Given the description of an element on the screen output the (x, y) to click on. 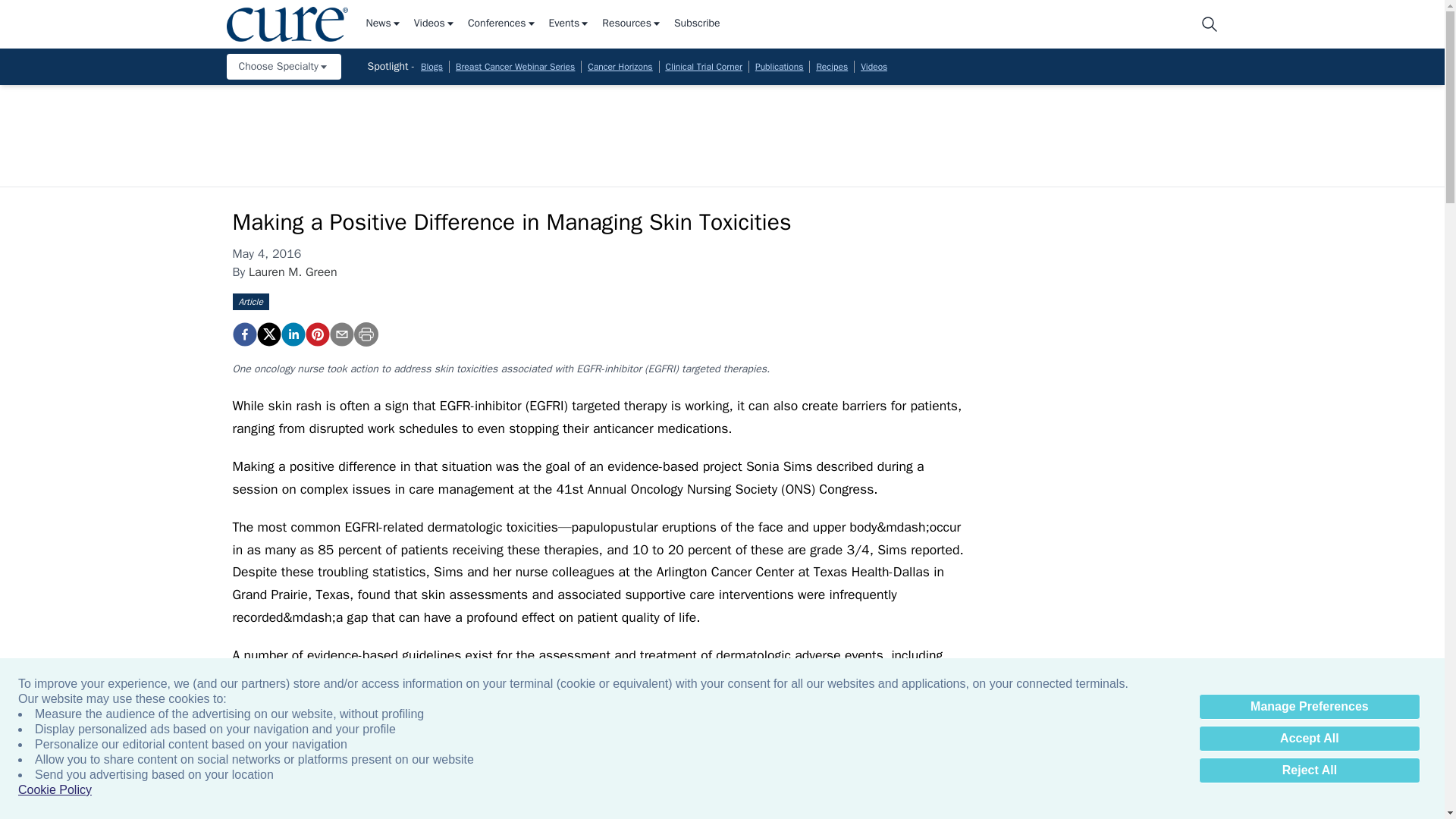
Manage Preferences (1309, 706)
Cookie Policy (54, 789)
Videos (434, 23)
Conferences (502, 23)
Accept All (1309, 738)
Making a Positive Difference in Managing Skin Toxicities (243, 334)
Events (569, 23)
Making a Positive Difference in Managing Skin Toxicities (316, 334)
News (383, 23)
Reject All (1309, 769)
